Given the description of an element on the screen output the (x, y) to click on. 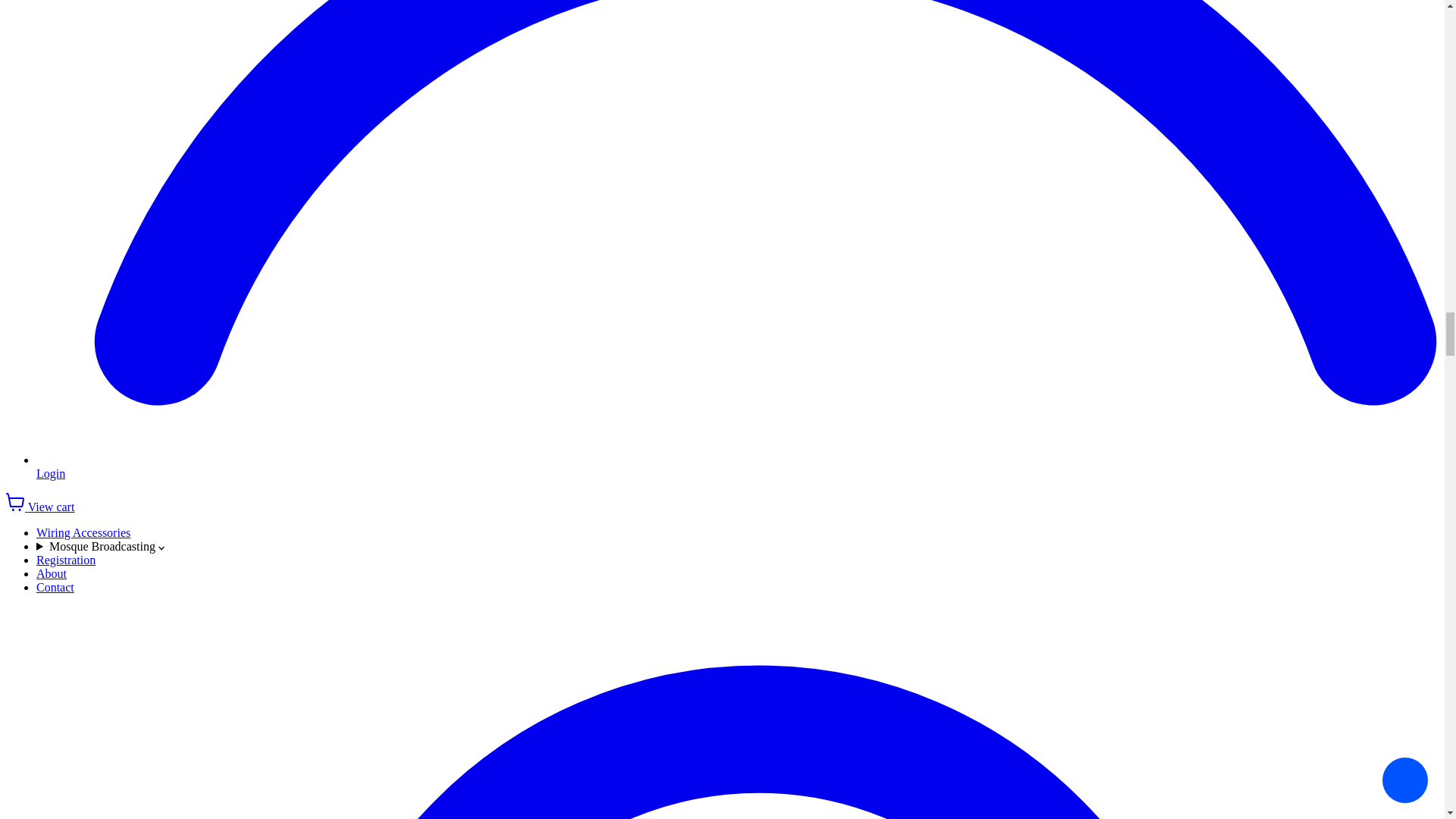
View cart (39, 506)
Contact (55, 586)
Wiring Accessories (83, 532)
Registration (66, 559)
About (51, 573)
